Given the description of an element on the screen output the (x, y) to click on. 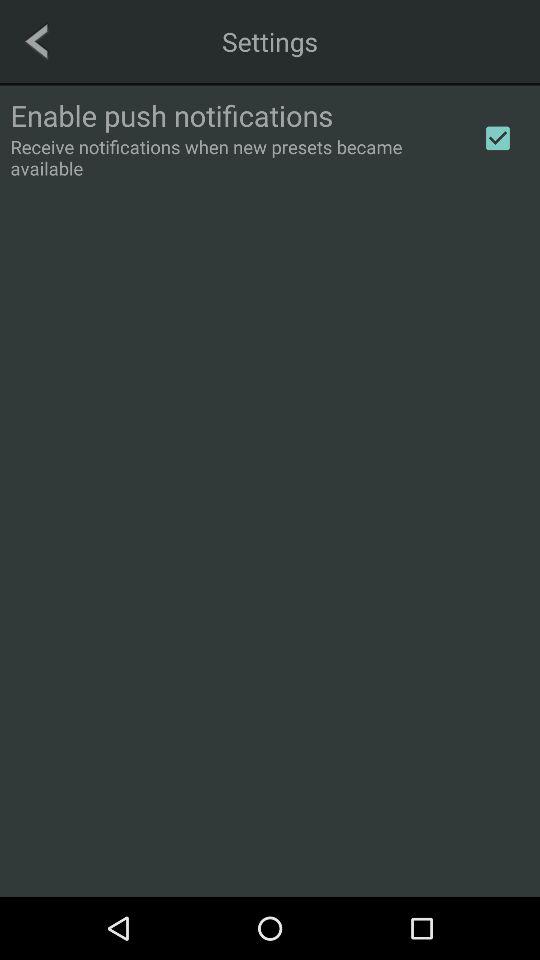
choose the item to the left of settings item (36, 41)
